Given the description of an element on the screen output the (x, y) to click on. 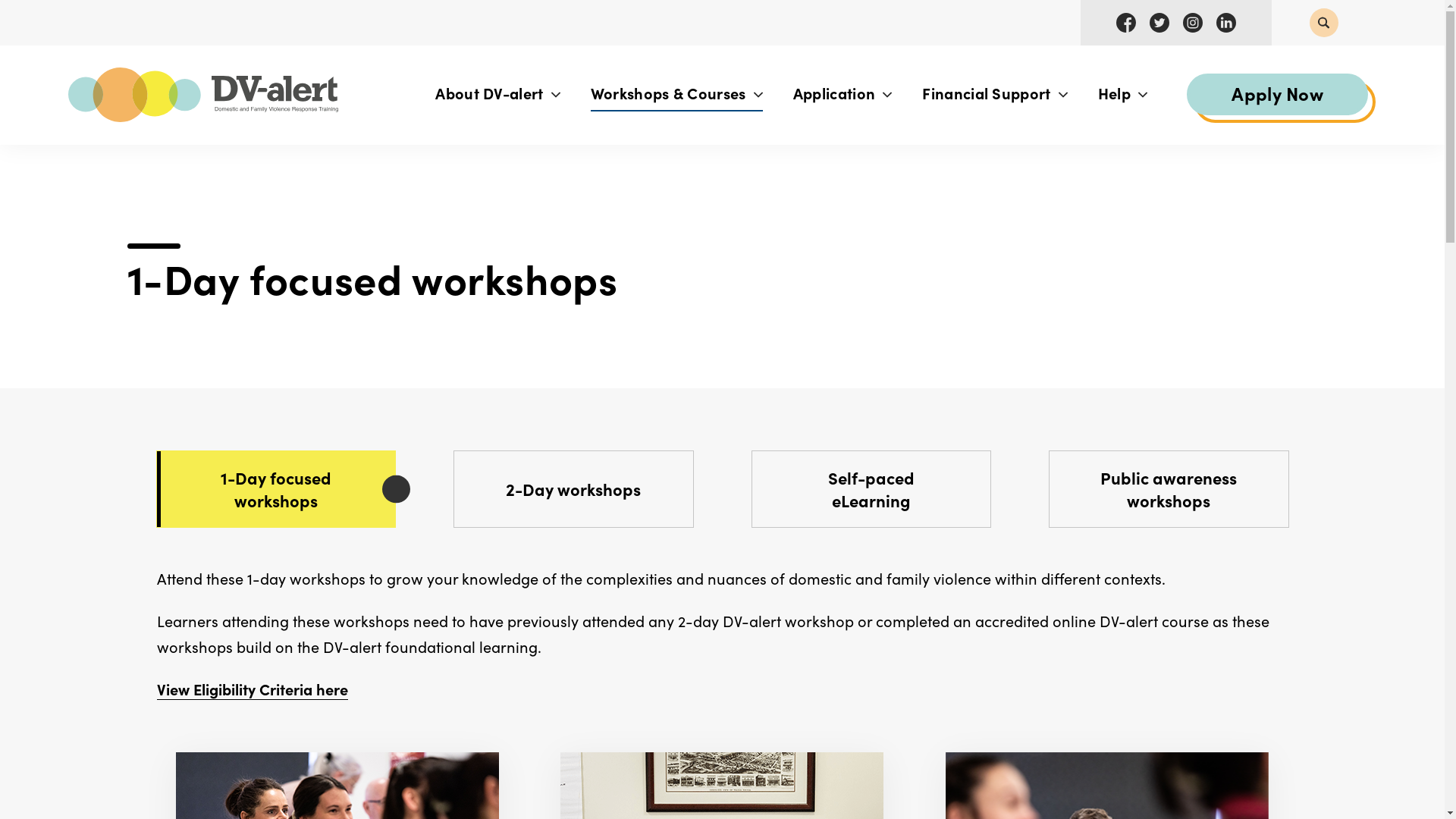
View Eligibility Criteria here Element type: text (251, 688)
2-Day workshops Element type: text (573, 489)
Workshops & Courses Element type: text (676, 94)
Apply Now Element type: text (1277, 94)
1-Day focused workshops Element type: text (275, 489)
Public awareness workshops Element type: text (1168, 489)
Self-paced eLearning Element type: text (871, 489)
